Given the description of an element on the screen output the (x, y) to click on. 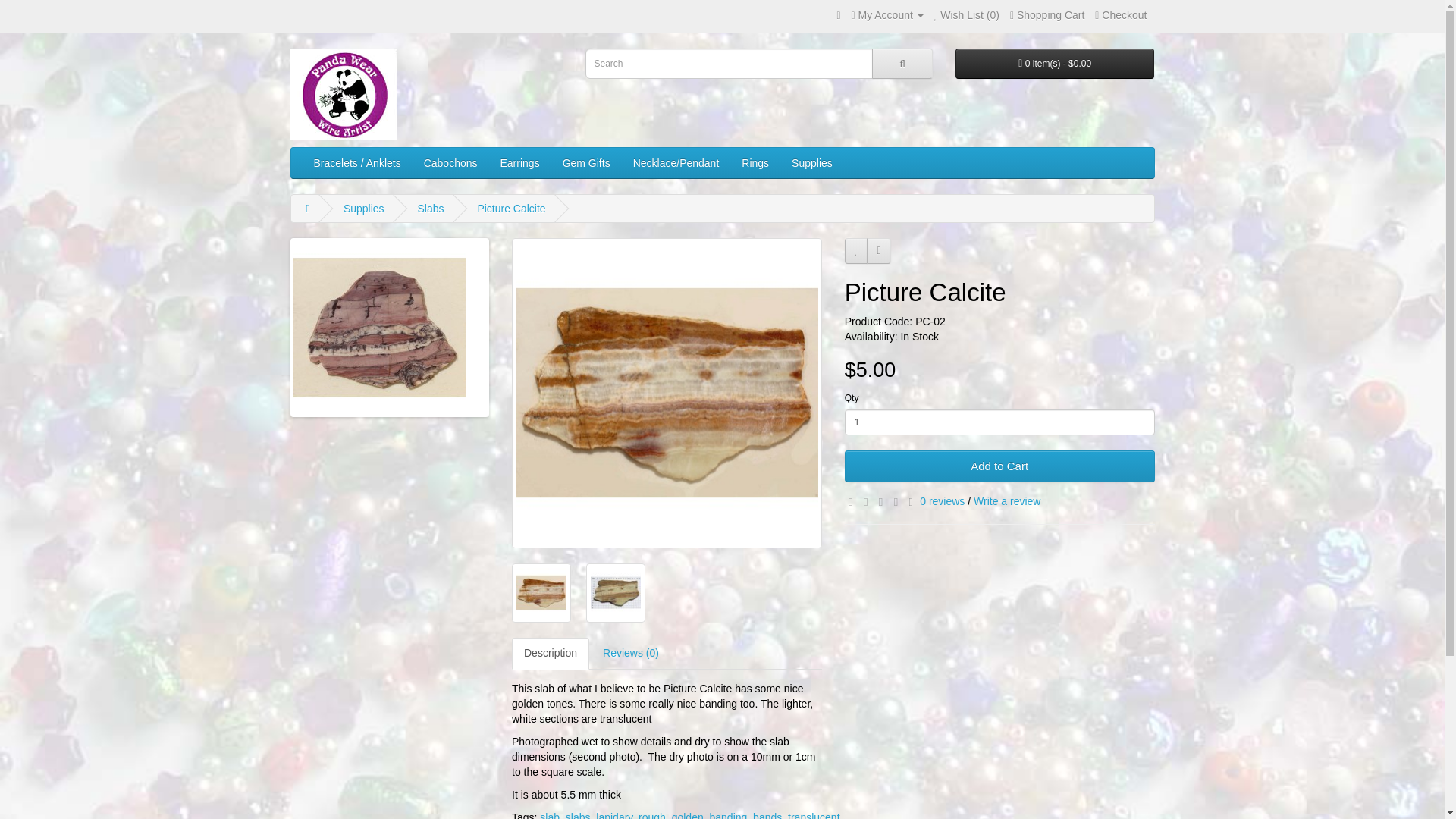
Picture Calcite (667, 392)
Slabs (430, 208)
Earrings (518, 163)
Supplies (812, 163)
Picture Calcite (615, 593)
Cabochons (450, 163)
Gem Gifts (586, 163)
Checkout (1120, 15)
Shopping Cart (1047, 15)
Picture Calcite (510, 208)
Supplies (363, 208)
Picture Calcite (541, 592)
My Account (886, 15)
Shopping Cart (1047, 15)
Picture Calcite (615, 592)
